Given the description of an element on the screen output the (x, y) to click on. 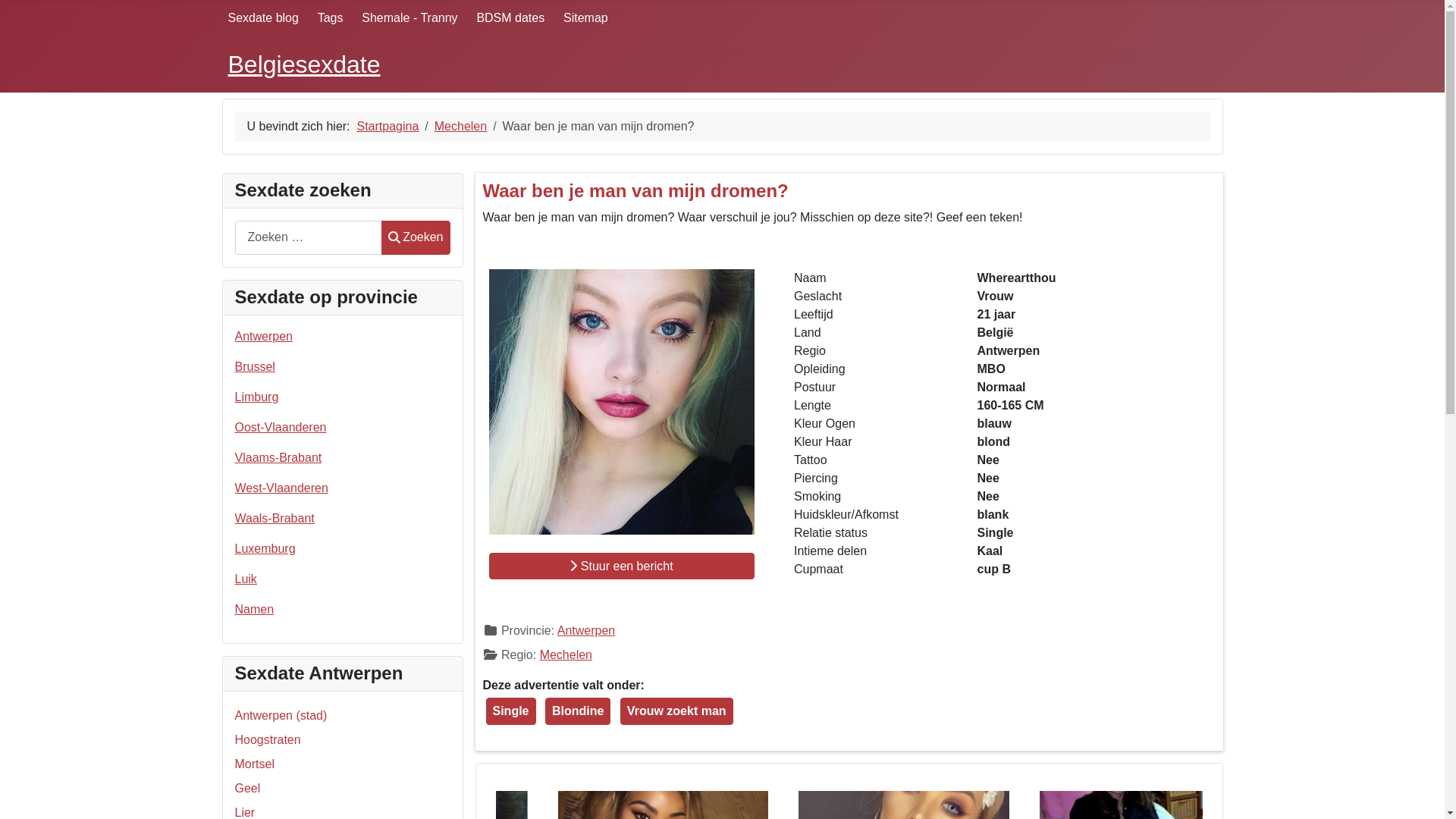
Geel Element type: text (247, 787)
Vrouw zoekt man Element type: text (676, 710)
Mortsel Element type: text (254, 763)
Tags Element type: text (330, 17)
Startpagina Element type: text (387, 125)
Antwerpen Element type: text (264, 335)
Antwerpen Element type: text (586, 630)
Shemale - Tranny Element type: text (409, 17)
Stuur een bericht Element type: text (620, 566)
Luxemburg Element type: text (265, 548)
Antwerpen (stad) Element type: text (281, 715)
Sexdate blog Element type: text (262, 17)
Mechelen Element type: text (460, 125)
Luik Element type: text (246, 578)
Brussel Element type: text (255, 366)
Single Element type: text (510, 710)
West-Vlaanderen Element type: text (281, 487)
Waals-Brabant Element type: text (274, 517)
Oost-Vlaanderen Element type: text (280, 426)
Namen Element type: text (254, 608)
Blondine Element type: text (577, 710)
Hoogstraten Element type: text (268, 739)
Sitemap Element type: text (585, 17)
Vlaams-Brabant Element type: text (278, 457)
Zoeken Element type: text (415, 237)
Belgiesexdate Element type: text (303, 64)
BDSM dates Element type: text (510, 17)
Mechelen Element type: text (565, 654)
Limburg Element type: text (257, 396)
